Given the description of an element on the screen output the (x, y) to click on. 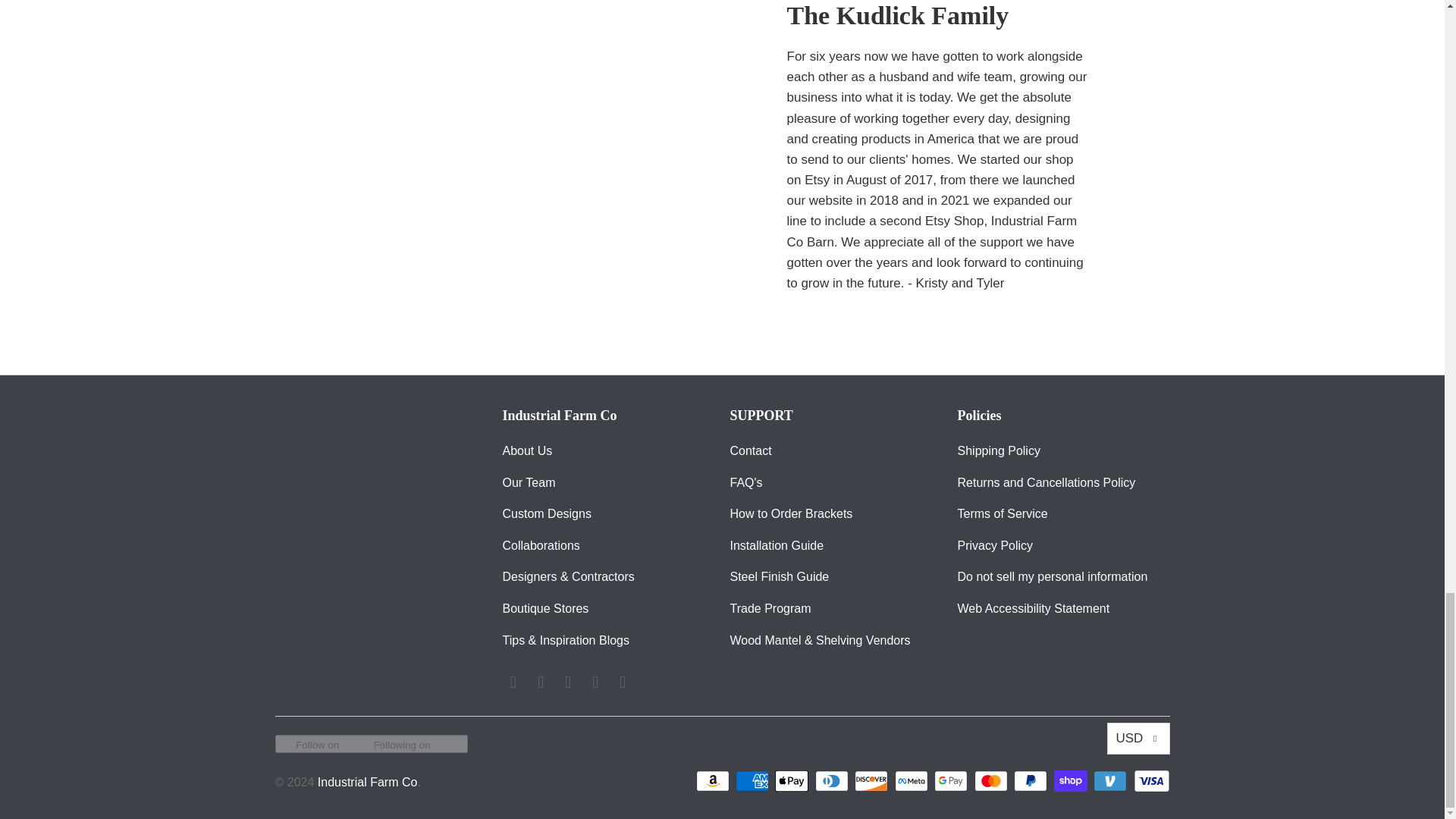
Visa (1150, 780)
American Express (753, 780)
Shop Pay (1072, 780)
Venmo (1111, 780)
Amazon (713, 780)
PayPal (1031, 780)
Diners Club (833, 780)
Apple Pay (792, 780)
Mastercard (992, 780)
Discover (872, 780)
Meta Pay (913, 780)
Google Pay (952, 780)
